Given the description of an element on the screen output the (x, y) to click on. 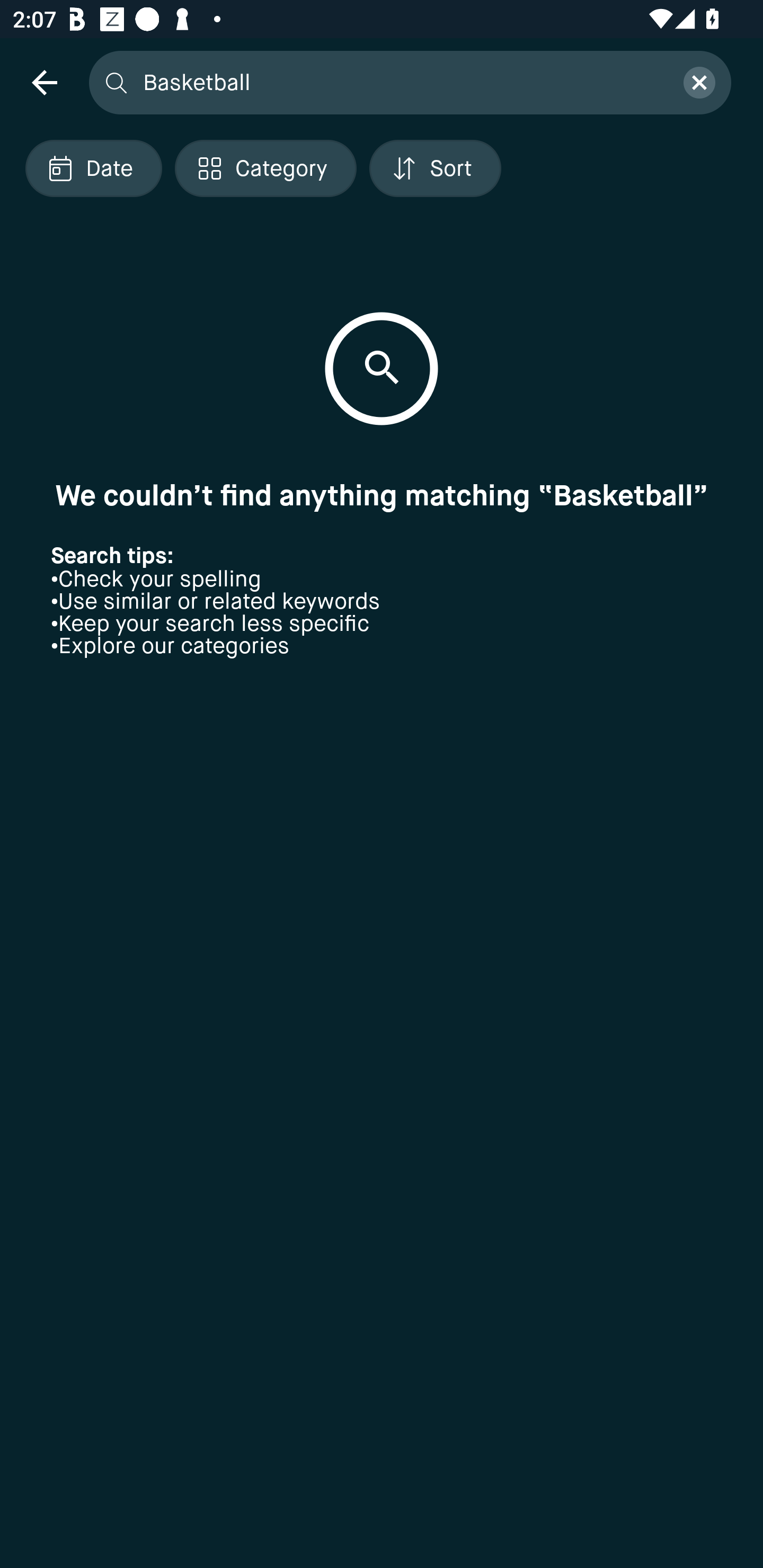
navigation icon (44, 81)
Basketball (402, 81)
Localized description Date (93, 168)
Localized description Category (265, 168)
Localized description Sort (435, 168)
We couldn’t find anything matching “Basketball” (381, 495)
